Given the description of an element on the screen output the (x, y) to click on. 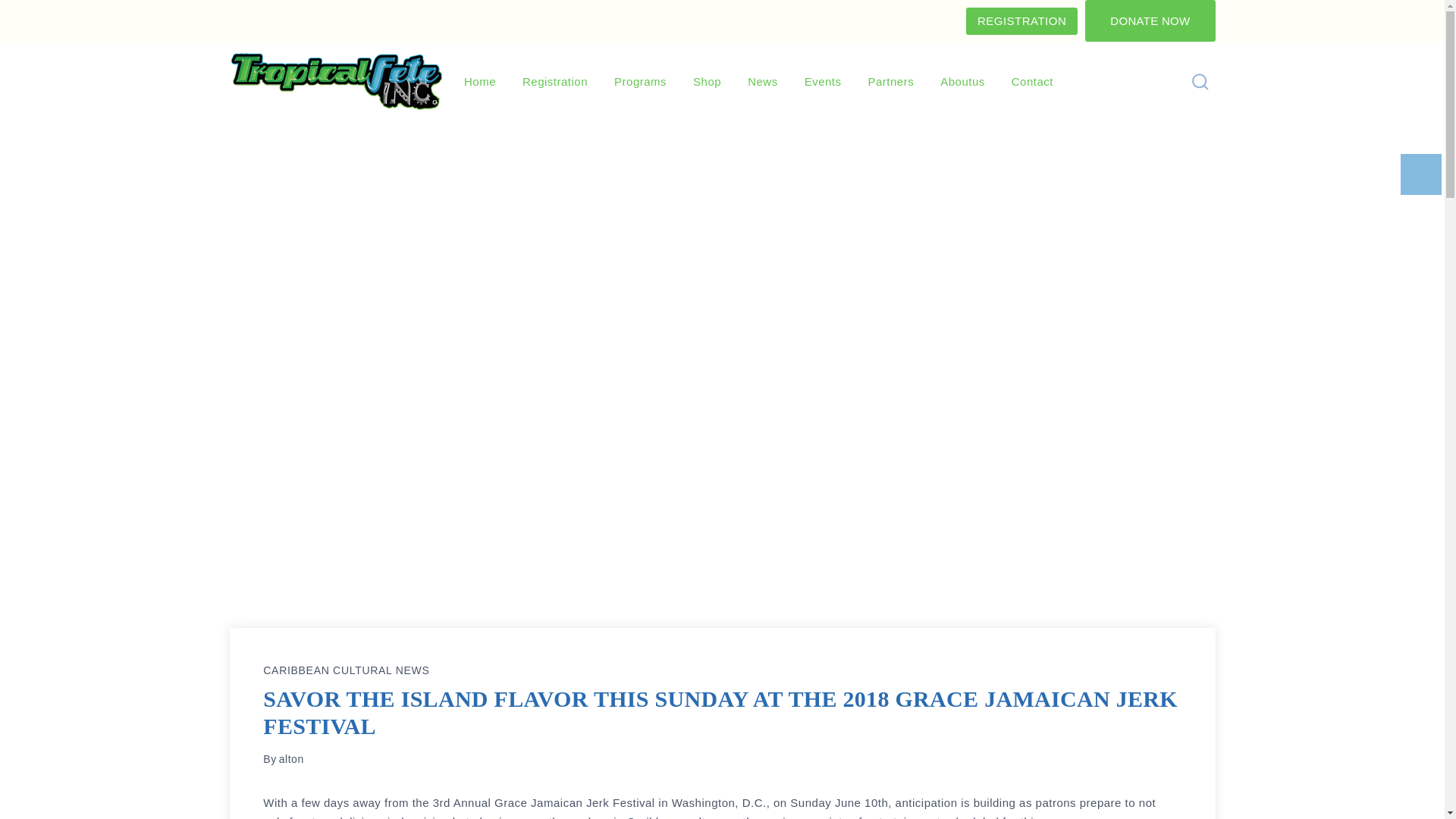
Registration (555, 81)
CARIBBEAN CULTURAL NEWS (346, 670)
Programs (640, 81)
DONATE NOW (1149, 20)
REGISTRATION (1021, 21)
Partners (890, 81)
alton (291, 758)
